Given the description of an element on the screen output the (x, y) to click on. 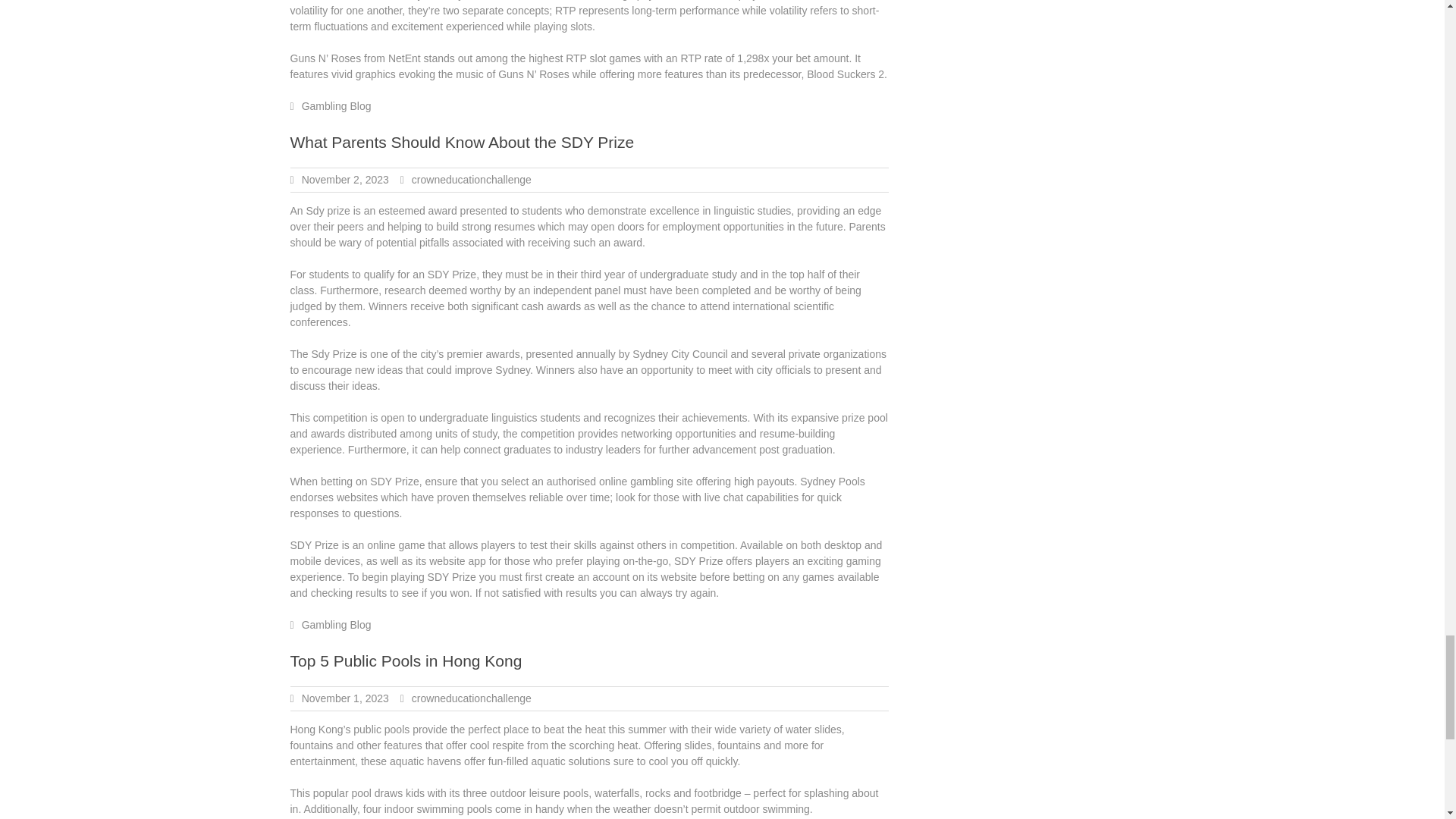
November 2, 2023 (344, 179)
crowneducationchallenge (471, 698)
November 1, 2023 (344, 698)
Gambling Blog (336, 105)
Gambling Blog (336, 624)
crowneducationchallenge (471, 179)
Top 5 Public Pools in Hong Kong (405, 660)
What Parents Should Know About the SDY Prize (461, 141)
